Given the description of an element on the screen output the (x, y) to click on. 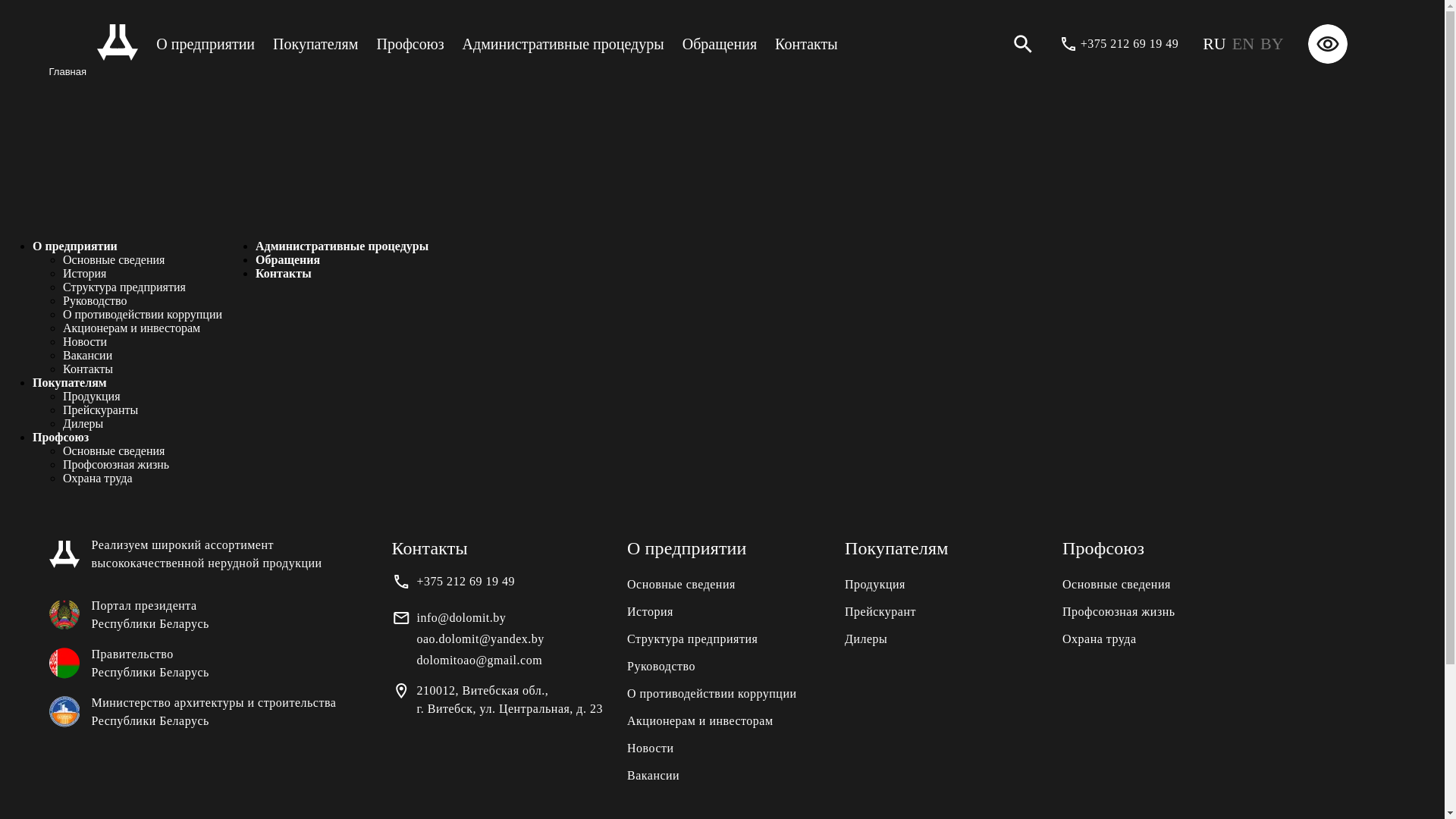
EN Element type: text (1243, 43)
RU Element type: text (1214, 43)
+375 212 69 19 49 Element type: text (1129, 43)
BY Element type: text (1271, 43)
